Given the description of an element on the screen output the (x, y) to click on. 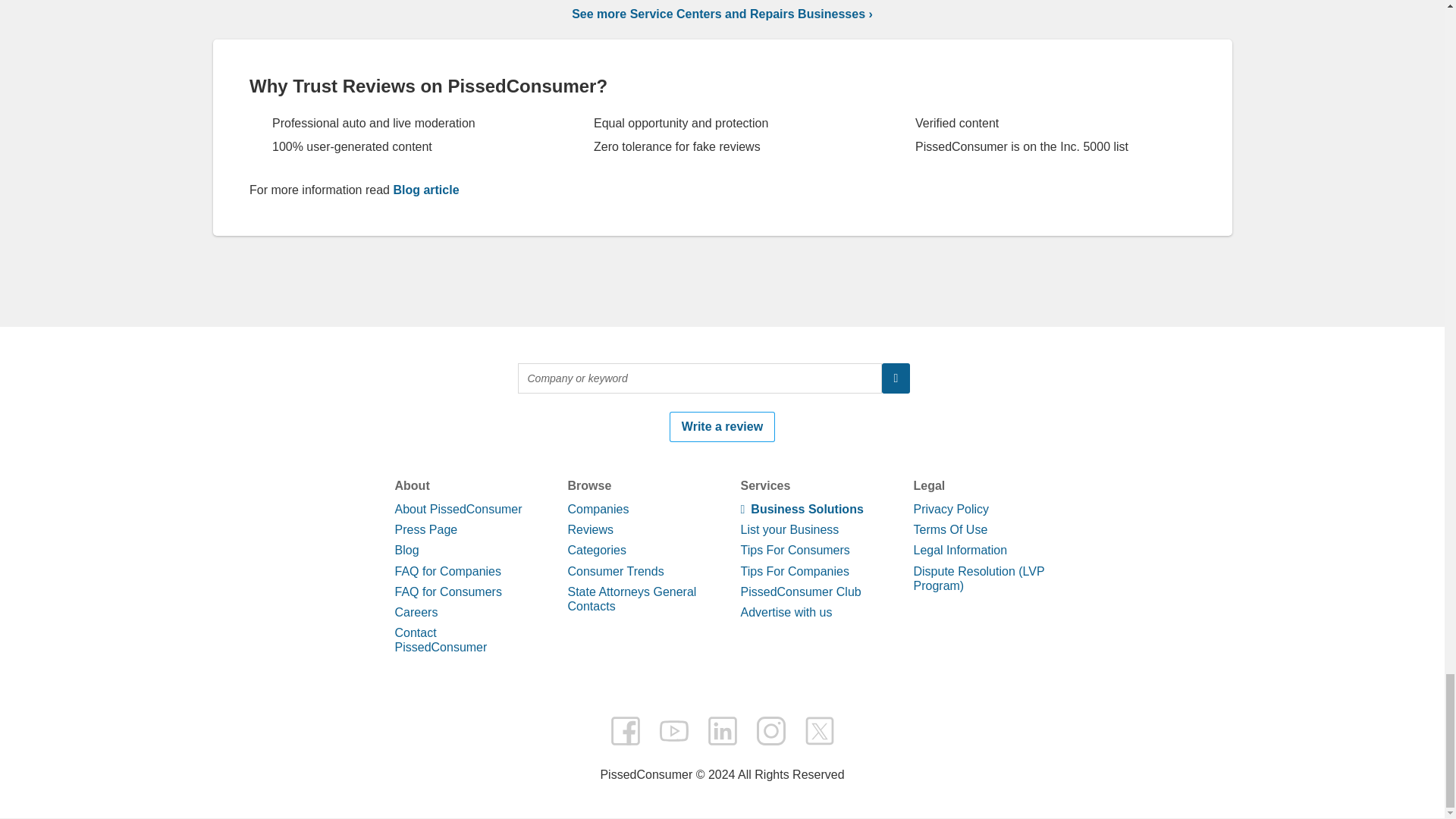
Write a review (721, 766)
